Given the description of an element on the screen output the (x, y) to click on. 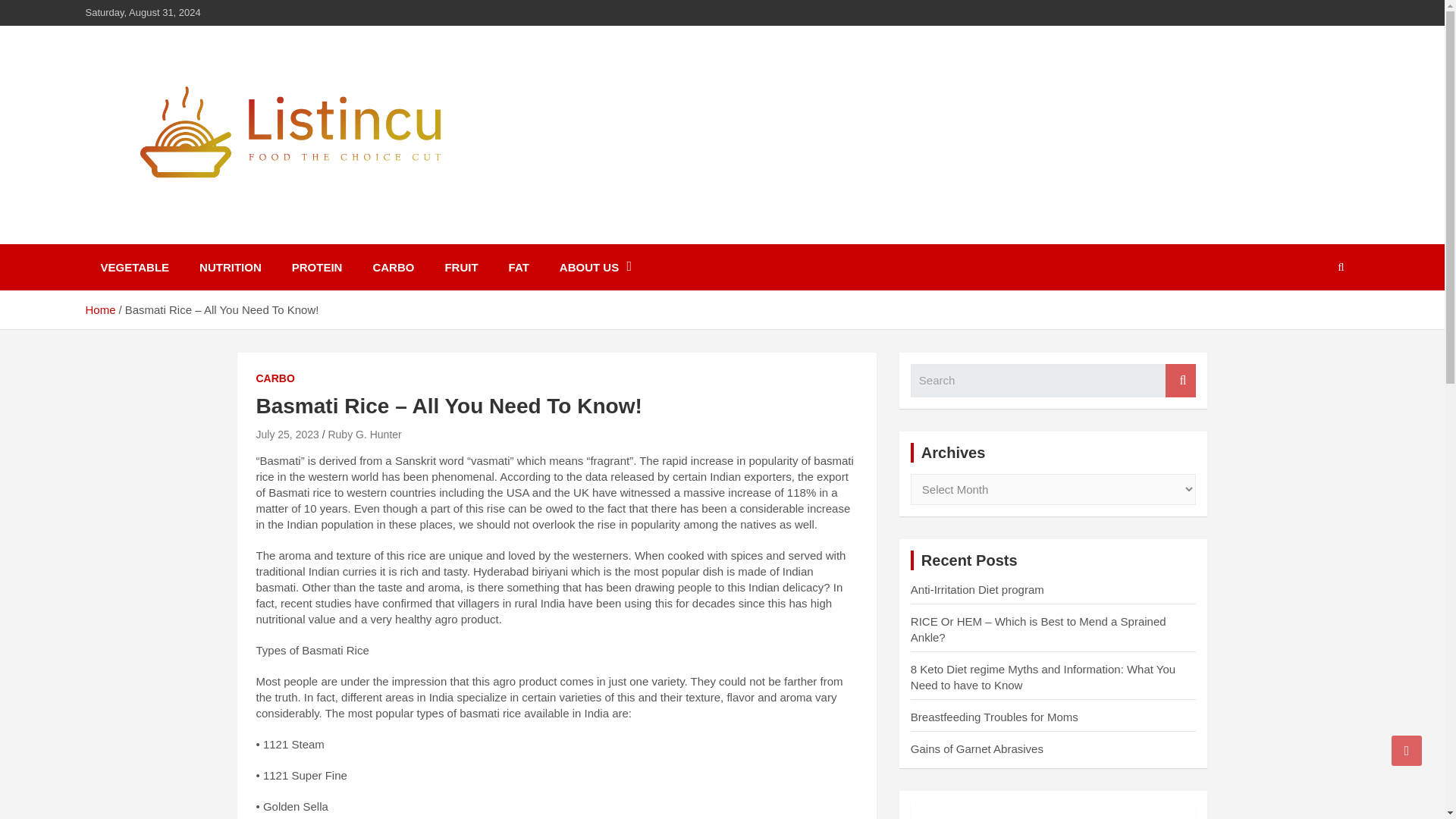
CARBO (392, 267)
Gains of Garnet Abrasives (977, 748)
Anti-Irritation Diet program (977, 589)
Listincu (142, 233)
Home (99, 309)
PROTEIN (317, 267)
CARBO (275, 378)
Breastfeeding Troubles for Moms (994, 716)
FRUIT (461, 267)
